Given the description of an element on the screen output the (x, y) to click on. 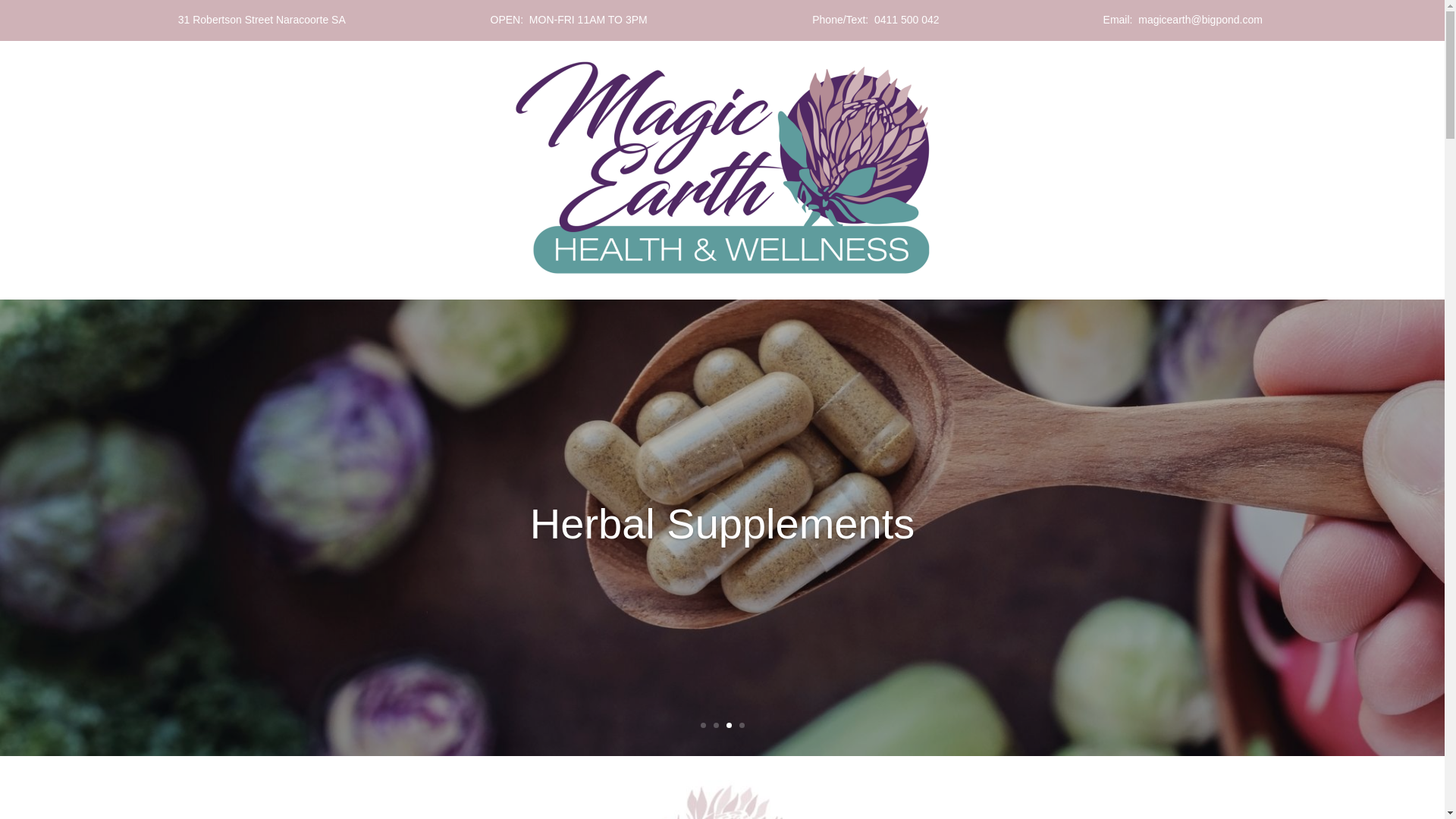
Magic Earth Health Wellness Element type: hover (721, 167)
1 Element type: text (703, 725)
3 Element type: text (728, 725)
2 Element type: text (715, 725)
4 Element type: text (740, 725)
